Given the description of an element on the screen output the (x, y) to click on. 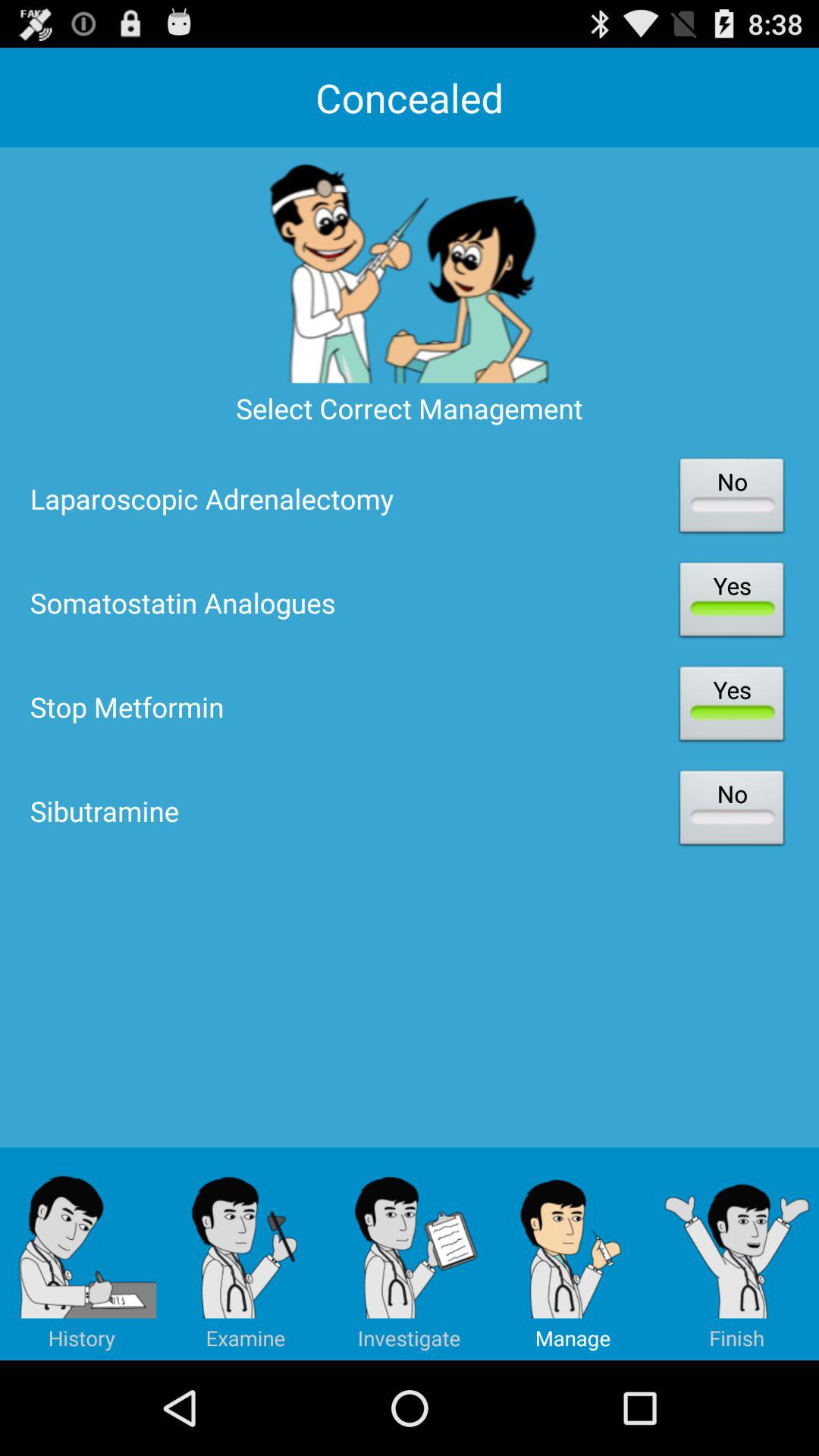
open the app below sibutramine app (245, 1253)
